Given the description of an element on the screen output the (x, y) to click on. 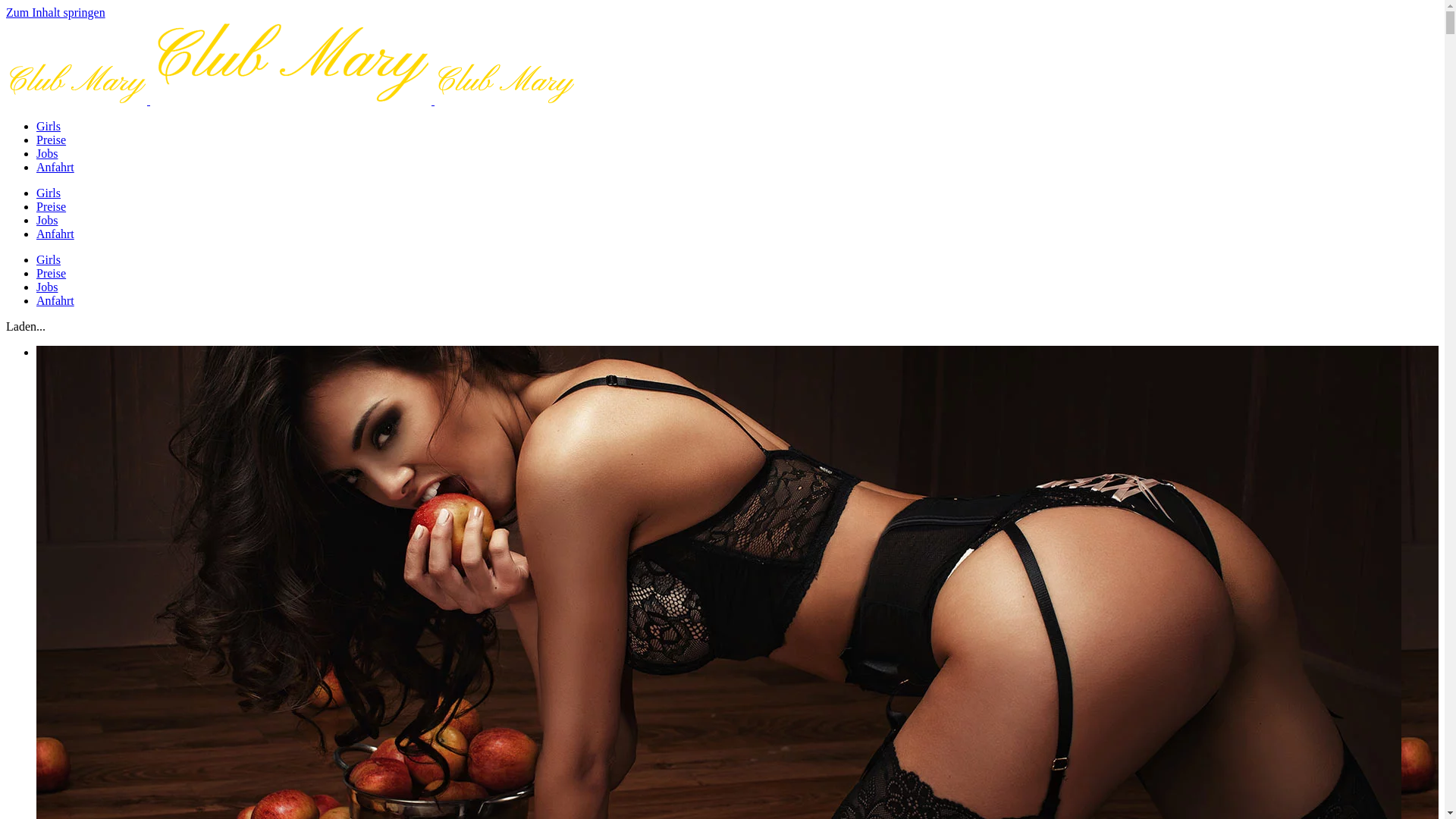
Girls Element type: text (48, 259)
Jobs Element type: text (46, 153)
Preise Element type: text (50, 206)
Anfahrt Element type: text (55, 166)
Anfahrt Element type: text (55, 233)
Anfahrt Element type: text (55, 300)
Jobs Element type: text (46, 286)
Girls Element type: text (48, 125)
Zum Inhalt springen Element type: text (55, 12)
Preise Element type: text (50, 272)
Jobs Element type: text (46, 219)
Preise Element type: text (50, 139)
Girls Element type: text (48, 192)
